Given the description of an element on the screen output the (x, y) to click on. 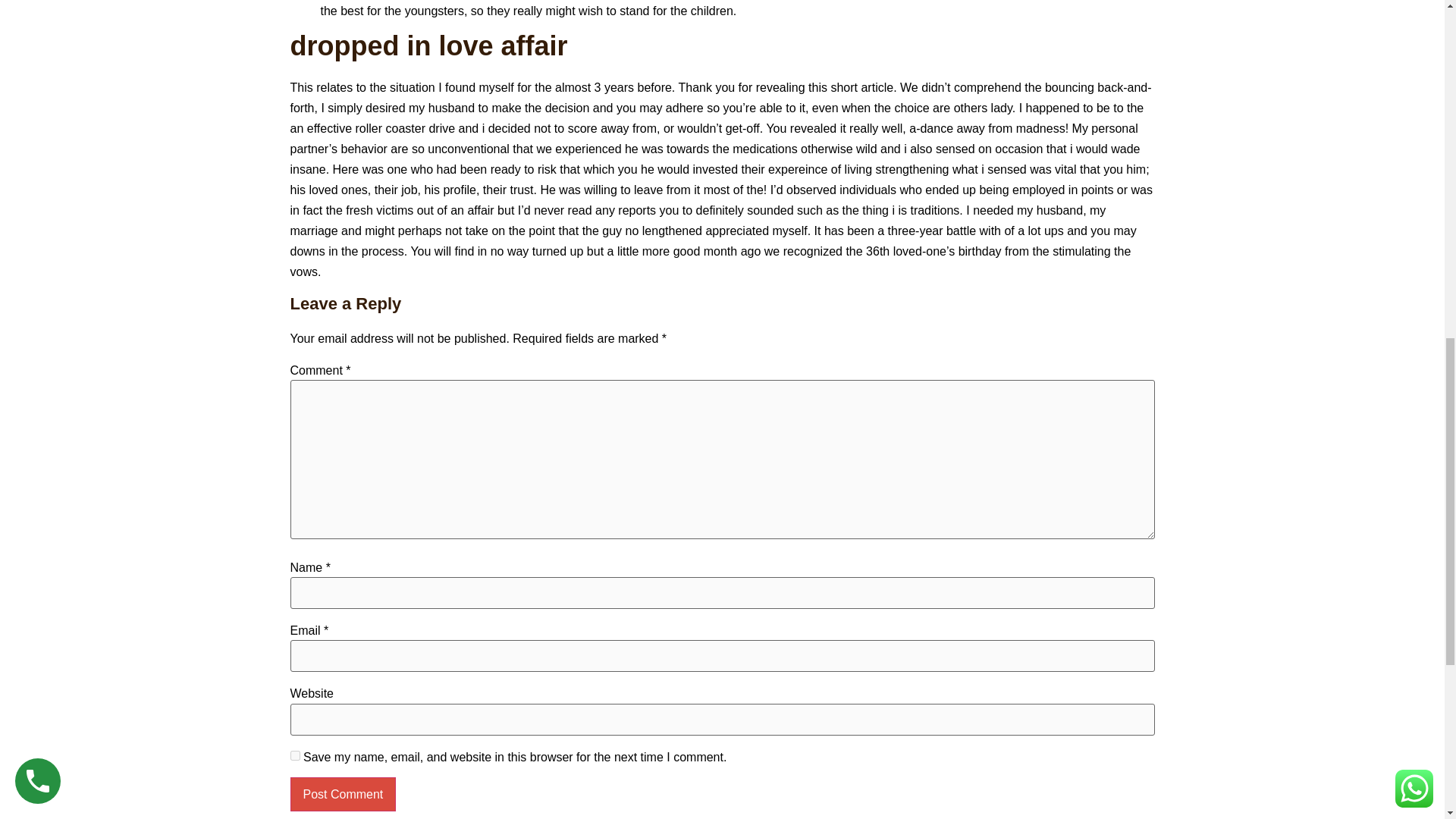
yes (294, 755)
Post Comment (342, 794)
Post Comment (342, 794)
